Given the description of an element on the screen output the (x, y) to click on. 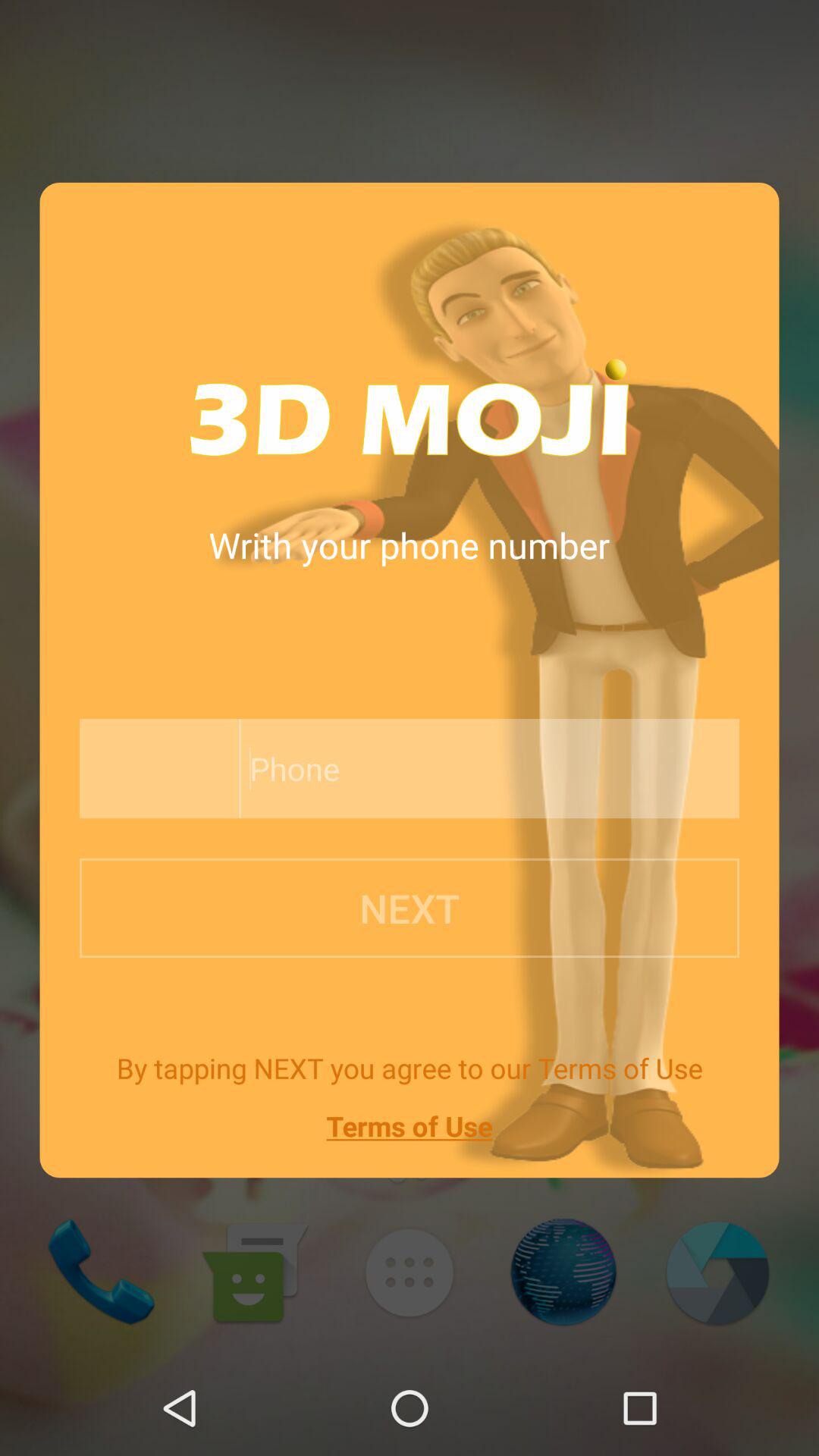
choose icon above next (454, 768)
